Given the description of an element on the screen output the (x, y) to click on. 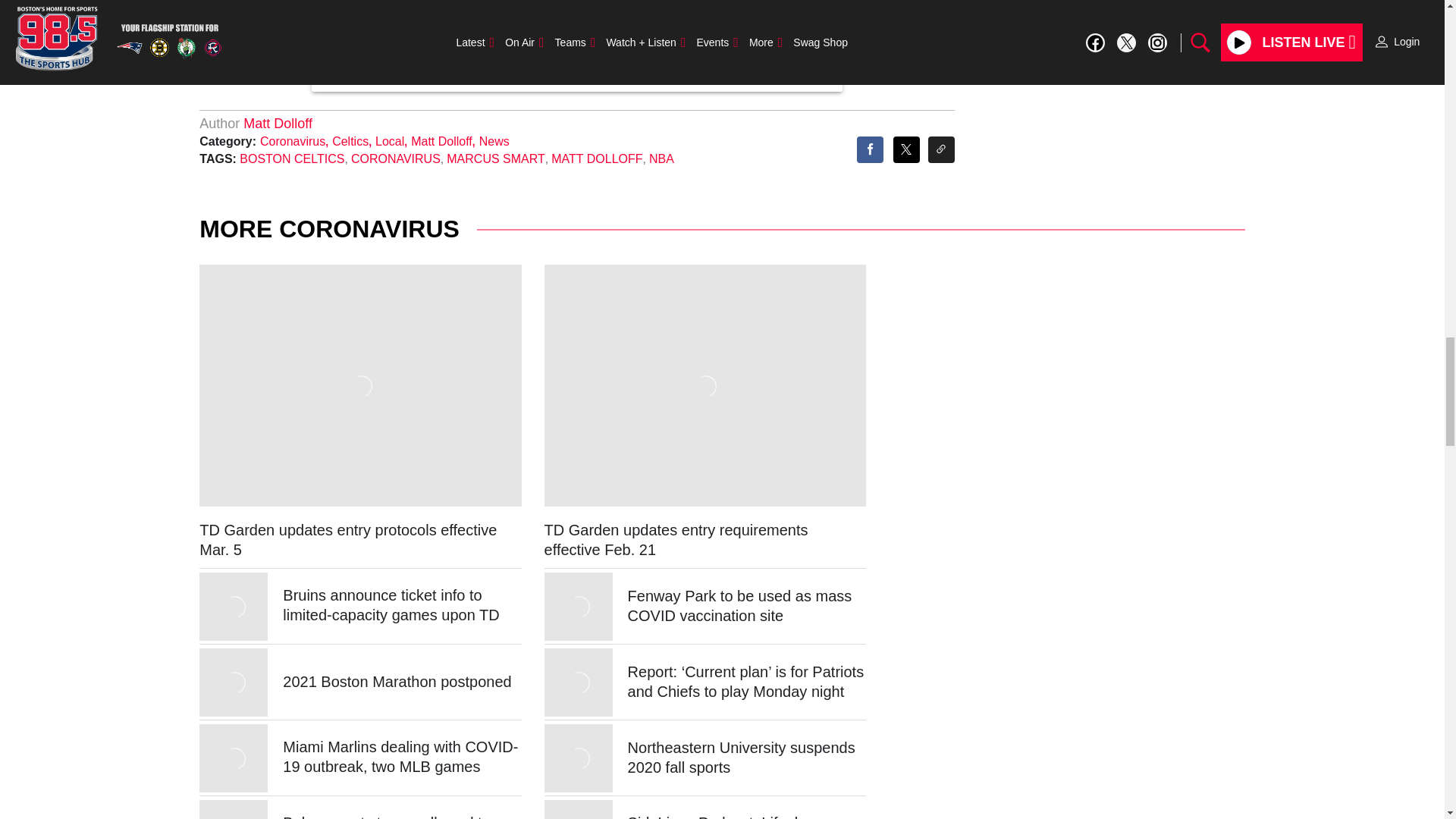
Matt Dolloff (278, 123)
on (430, 44)
